Given the description of an element on the screen output the (x, y) to click on. 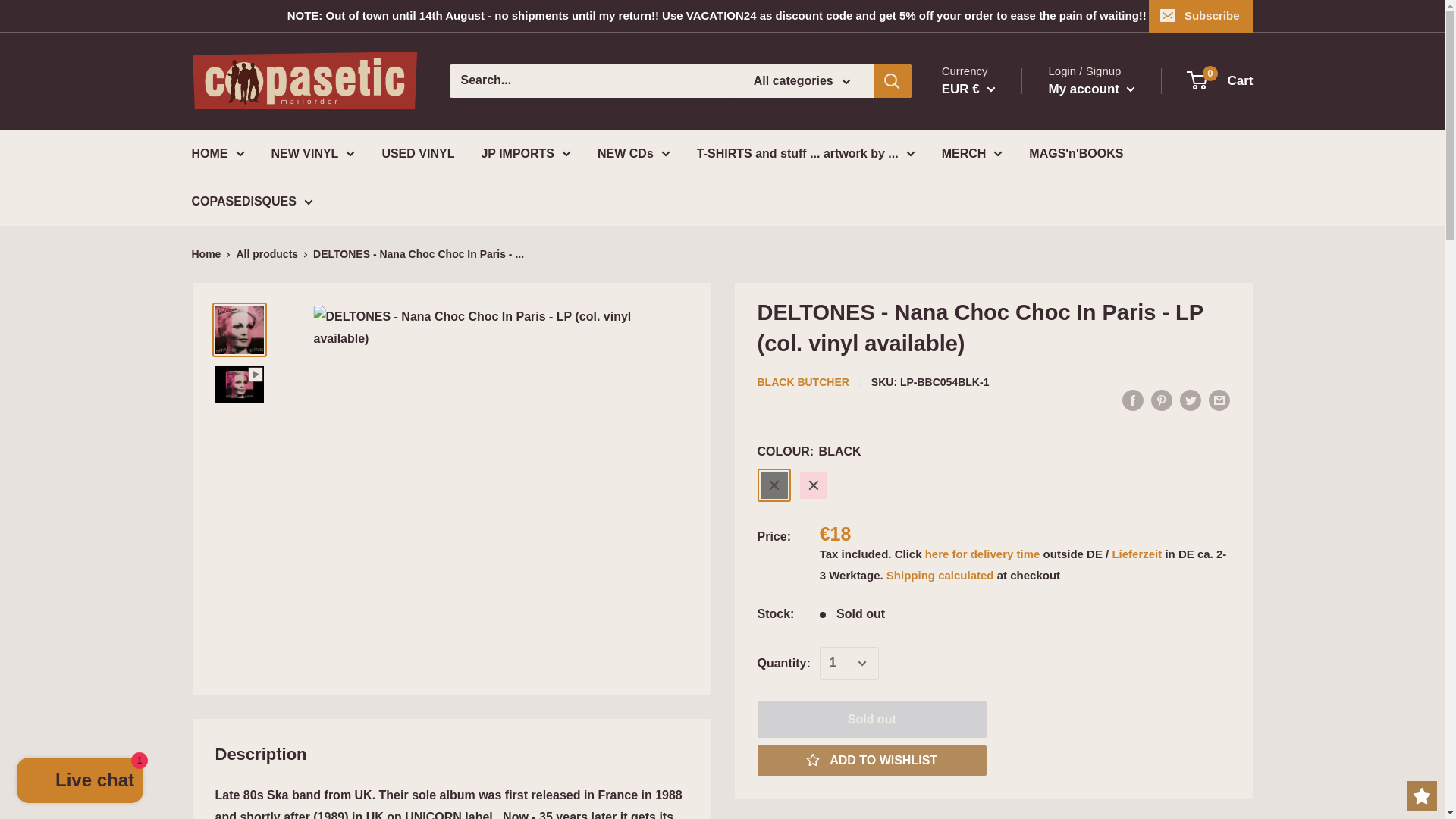
PINK (813, 484)
Shopify online store chat (79, 781)
BLACK (773, 484)
Subscribe (1200, 15)
